Given the description of an element on the screen output the (x, y) to click on. 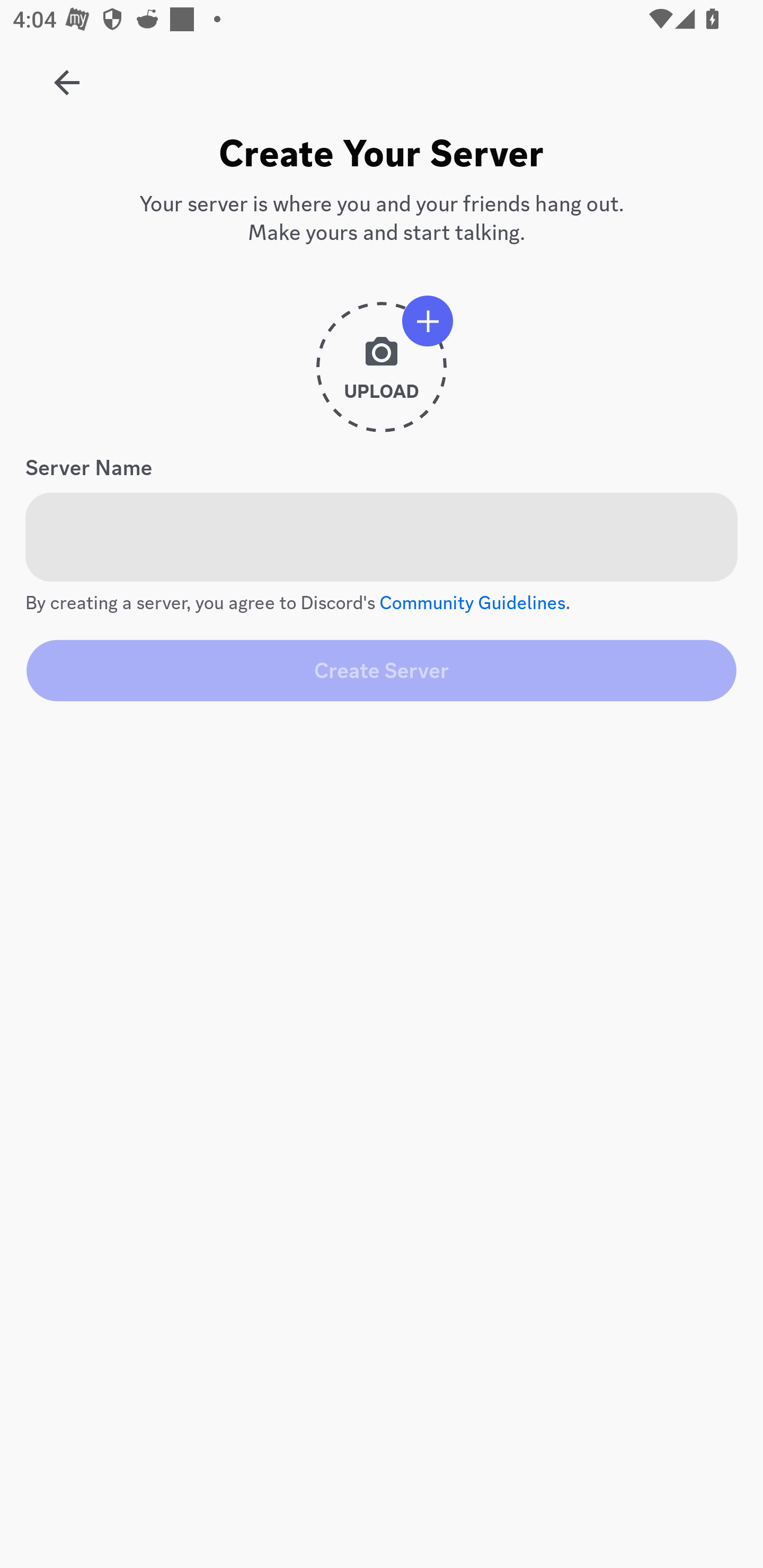
  Study Group Sunday 5PM SGS5 (66, 75)
Search (373, 165)
Upload Image UPLOAD (381, 373)
Create Server (381, 670)
